Given the description of an element on the screen output the (x, y) to click on. 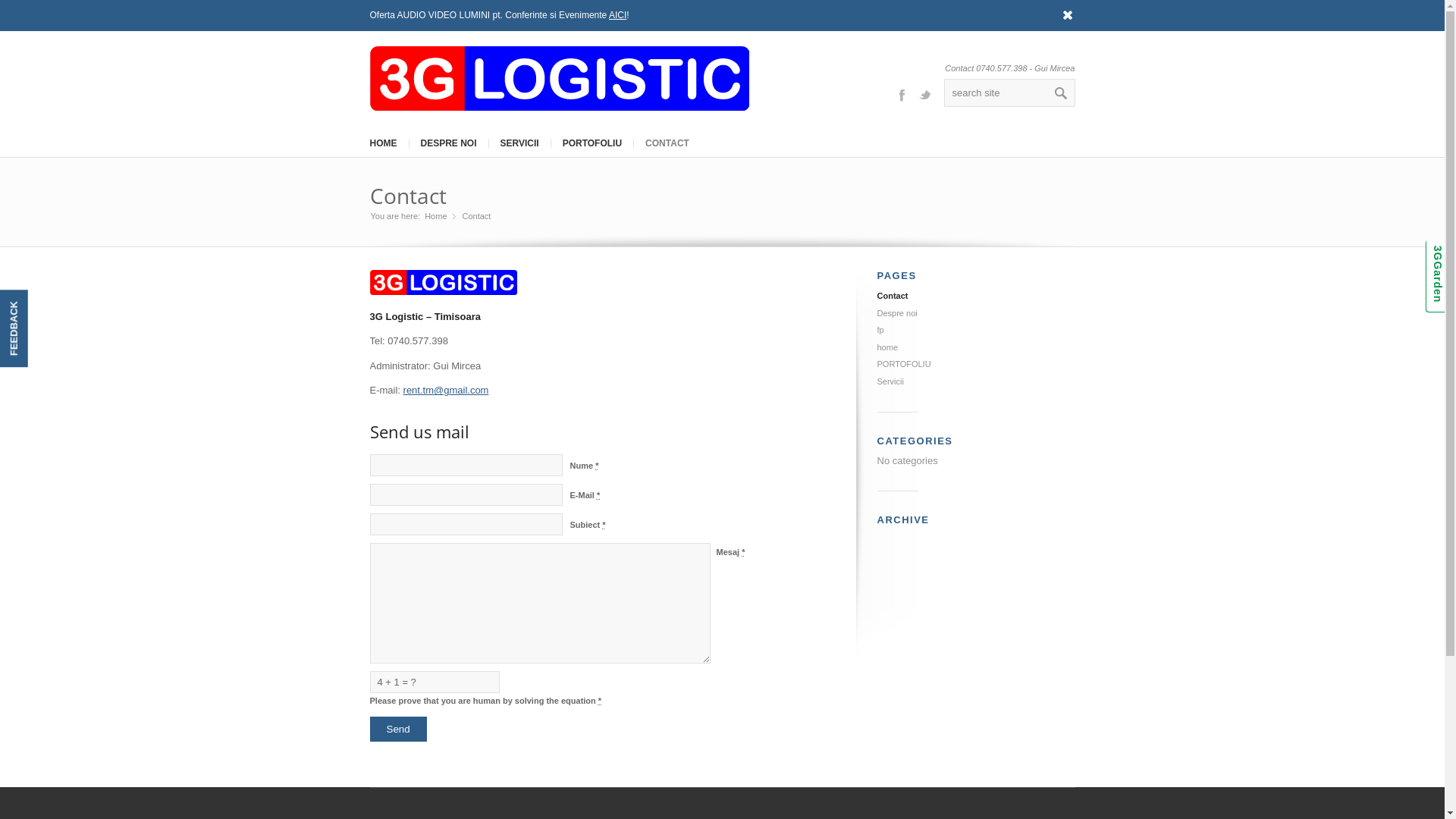
PORTOFOLIU Element type: text (903, 363)
PORTOFOLIU Element type: text (591, 142)
Logo 3G Logistic Element type: hover (443, 281)
Facebook Element type: text (900, 93)
HOME Element type: text (382, 142)
CONTACT Element type: text (666, 142)
Send Element type: text (398, 728)
SERVICII Element type: text (519, 142)
home Element type: text (886, 346)
x Element type: text (1067, 13)
Despre noi Element type: text (896, 312)
DESPRE NOI Element type: text (447, 142)
Servicii Element type: text (889, 380)
AICI Element type: text (617, 14)
FEEDBACK Element type: text (38, 303)
Home Element type: text (435, 216)
fp Element type: text (879, 329)
Contact Element type: text (891, 295)
Contact Element type: text (408, 195)
Twitter Element type: text (925, 93)
rent.tm@gmail.com Element type: text (446, 389)
